Given the description of an element on the screen output the (x, y) to click on. 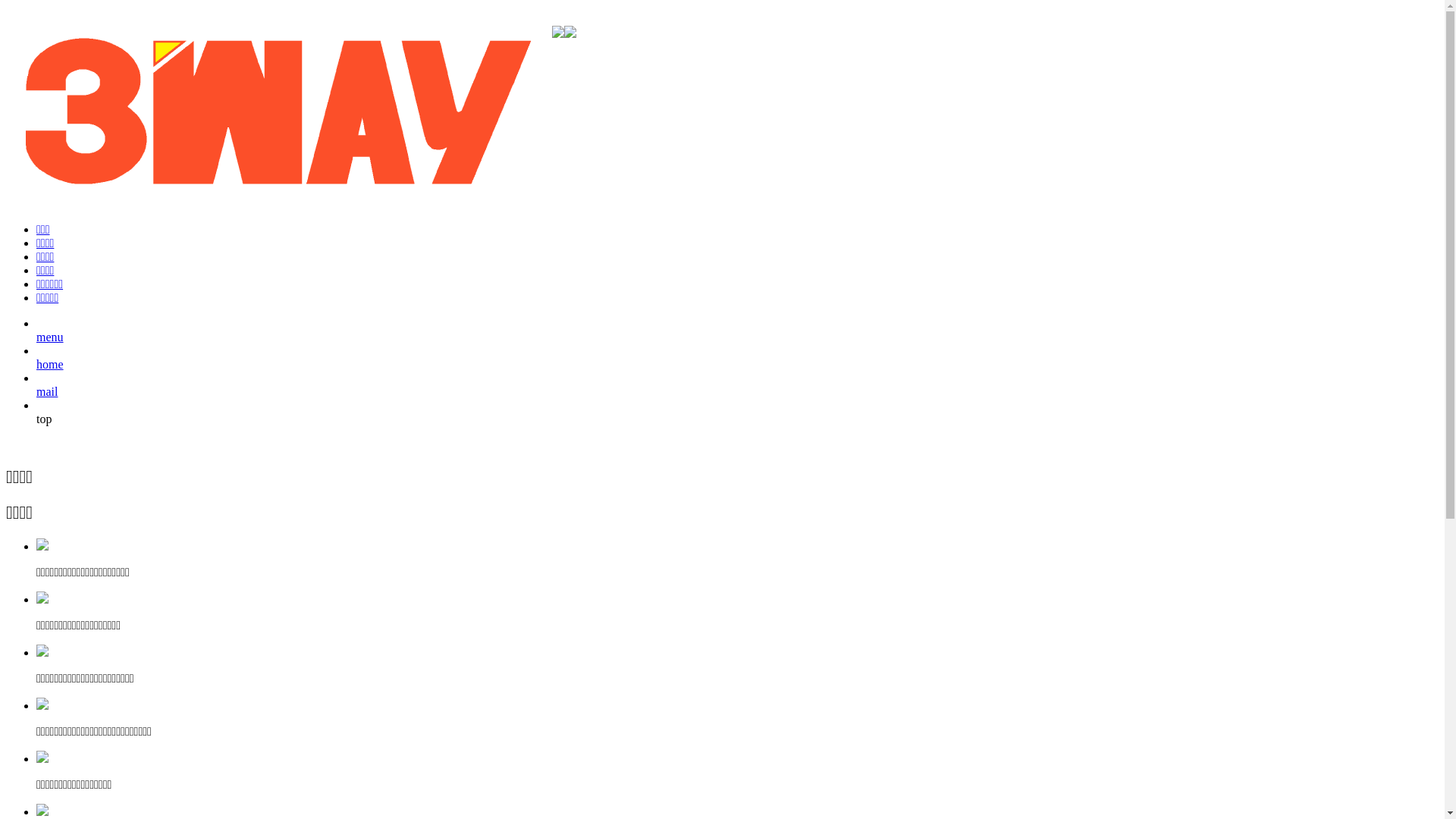
top Element type: text (43, 425)
menu Element type: text (49, 343)
mail Element type: text (46, 398)
home Element type: text (49, 370)
